Given the description of an element on the screen output the (x, y) to click on. 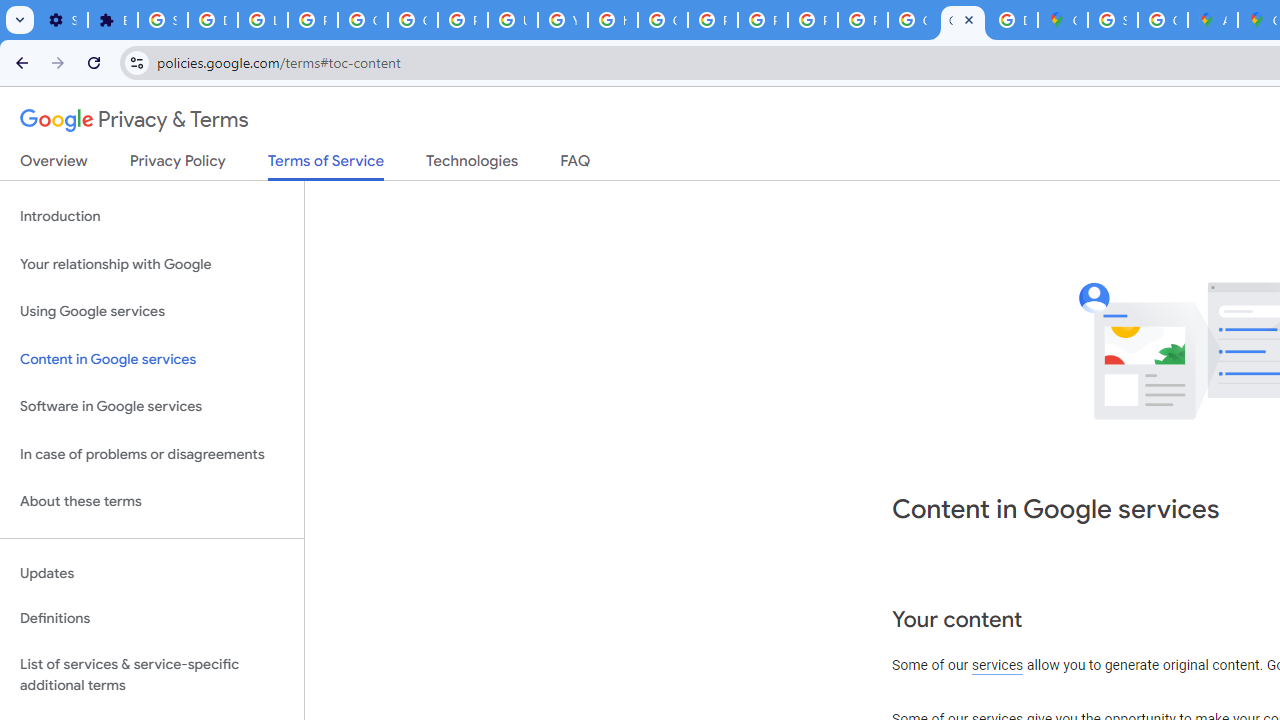
Google Account Help (362, 20)
Sign in - Google Accounts (163, 20)
Terms of Service (326, 166)
Your relationship with Google (152, 263)
About these terms (152, 502)
Delete photos & videos - Computer - Google Photos Help (213, 20)
Extensions (113, 20)
Sign in - Google Accounts (1112, 20)
Google Account Help (412, 20)
Privacy Help Center - Policies Help (712, 20)
